Given the description of an element on the screen output the (x, y) to click on. 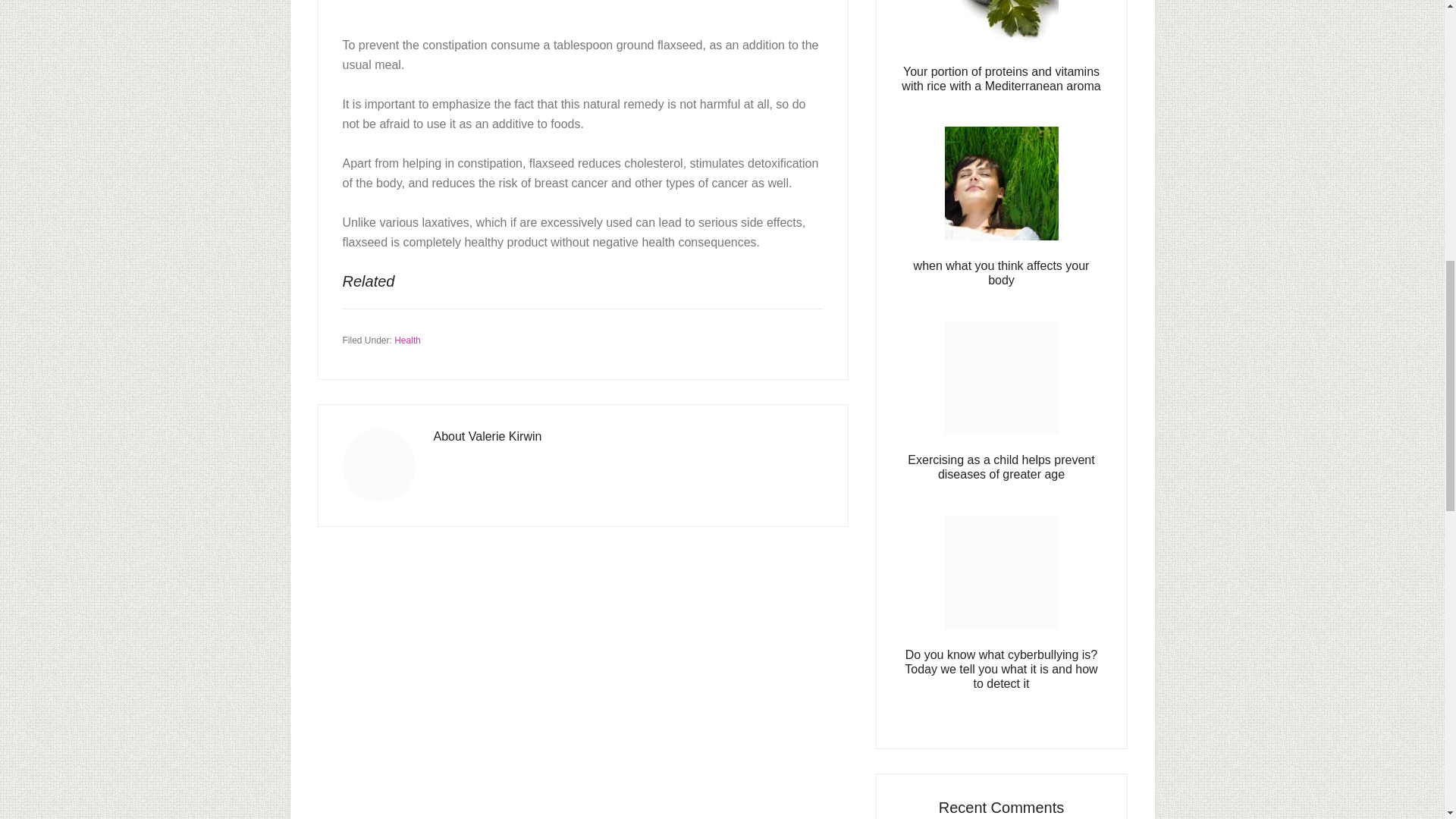
when what you think affects your body (1001, 272)
Exercising as a child helps prevent diseases of greater age (1000, 466)
Health (407, 339)
